Given the description of an element on the screen output the (x, y) to click on. 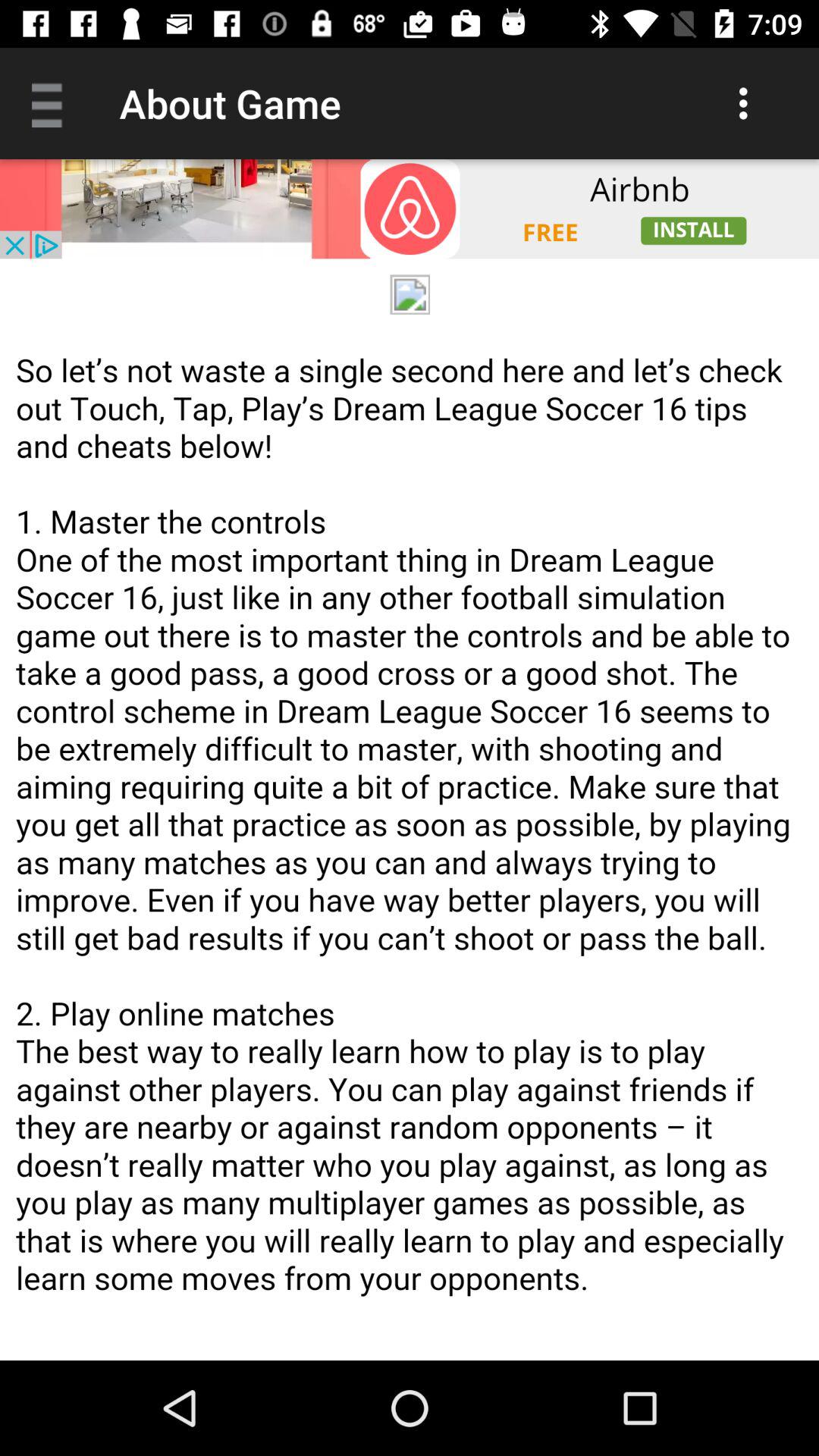
space where you access advertising (409, 208)
